Given the description of an element on the screen output the (x, y) to click on. 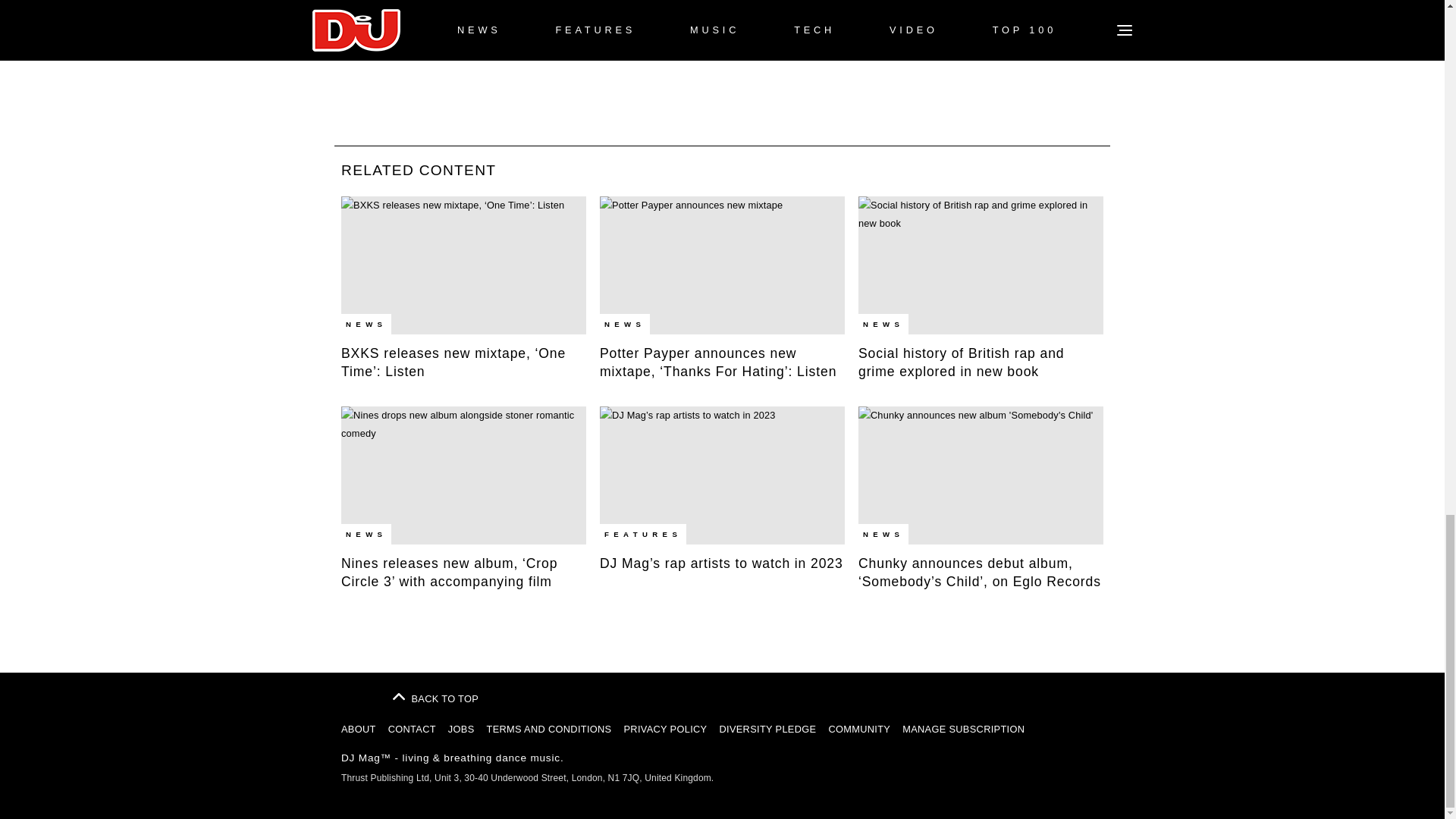
DjMag (362, 691)
